Given the description of an element on the screen output the (x, y) to click on. 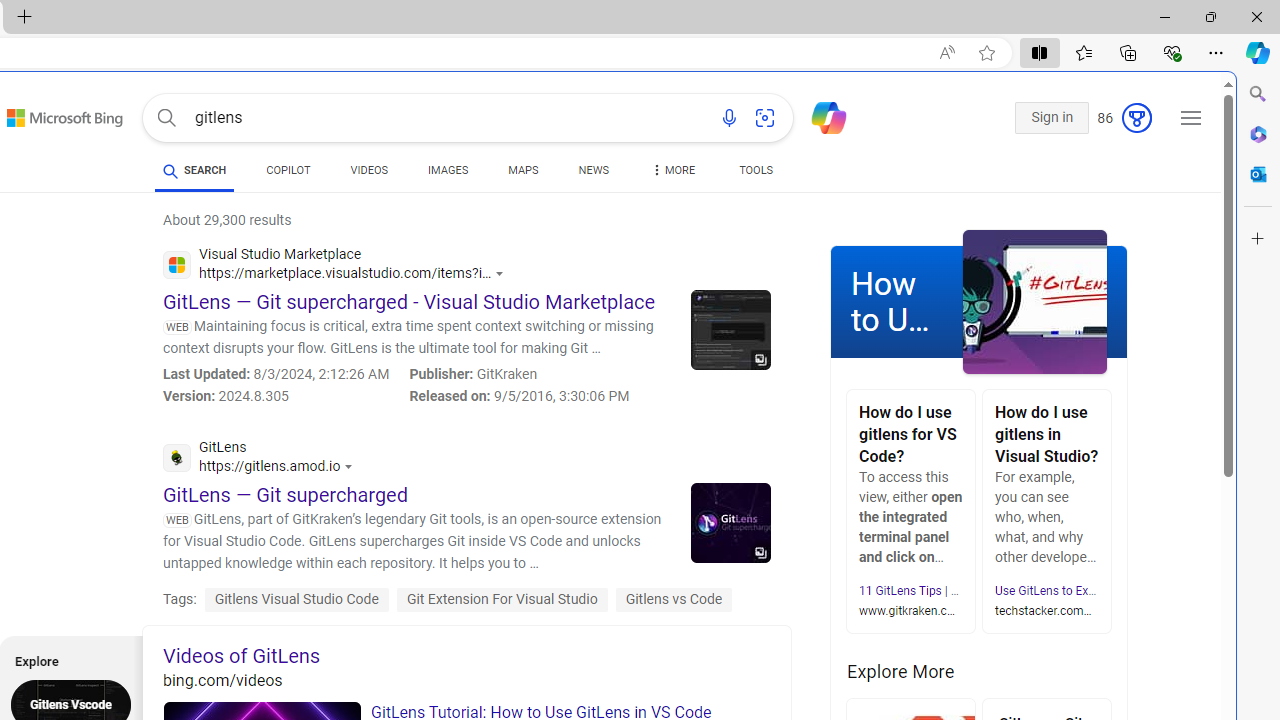
TOOLS (756, 170)
Last Updated: 8/3/2024, 2:12:26 AM (276, 374)
Actions for this site (351, 466)
Chat (820, 116)
COPILOT (288, 173)
NEWS (592, 170)
